Given the description of an element on the screen output the (x, y) to click on. 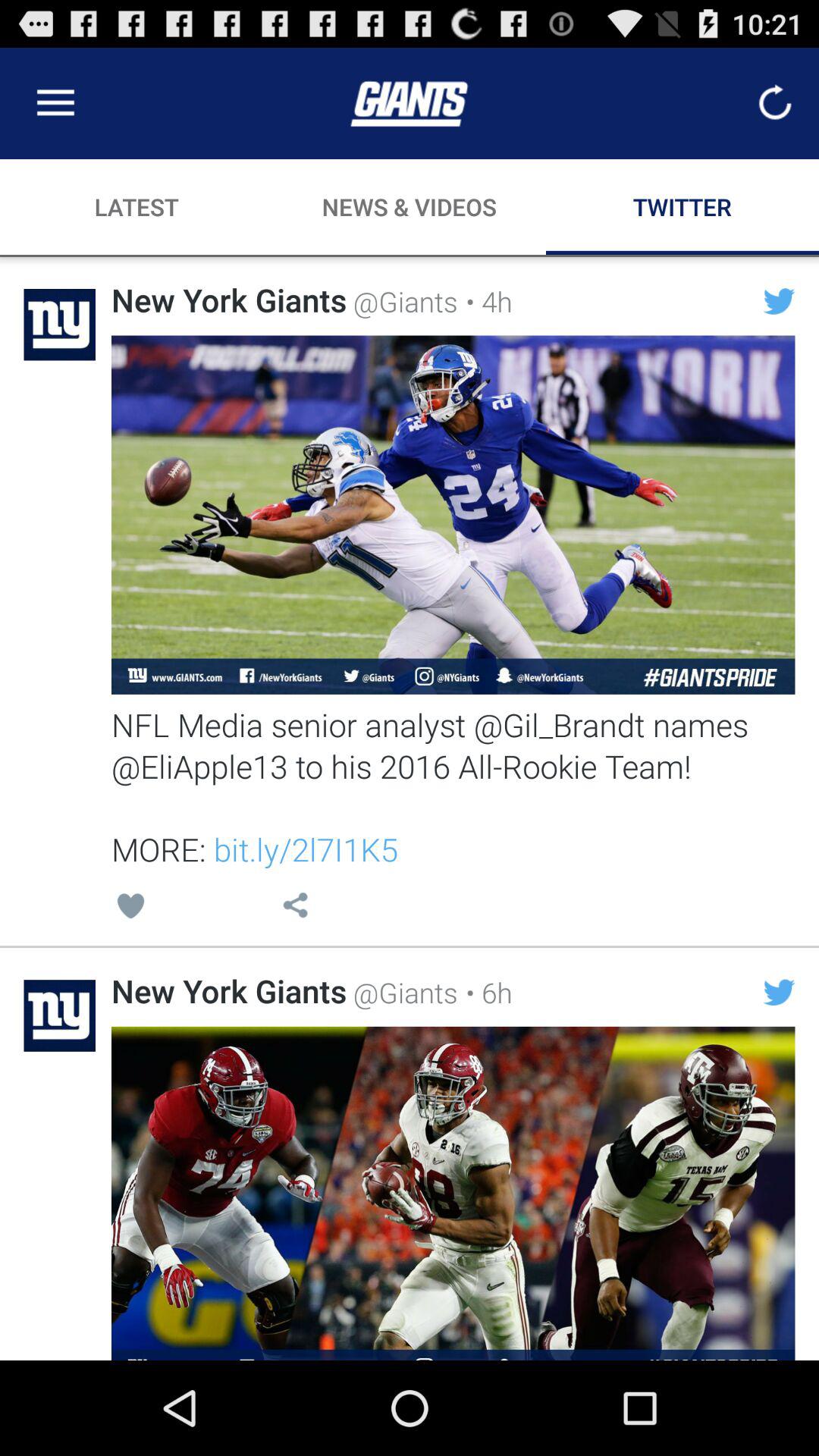
turn off the icon above new york giants (295, 907)
